Given the description of an element on the screen output the (x, y) to click on. 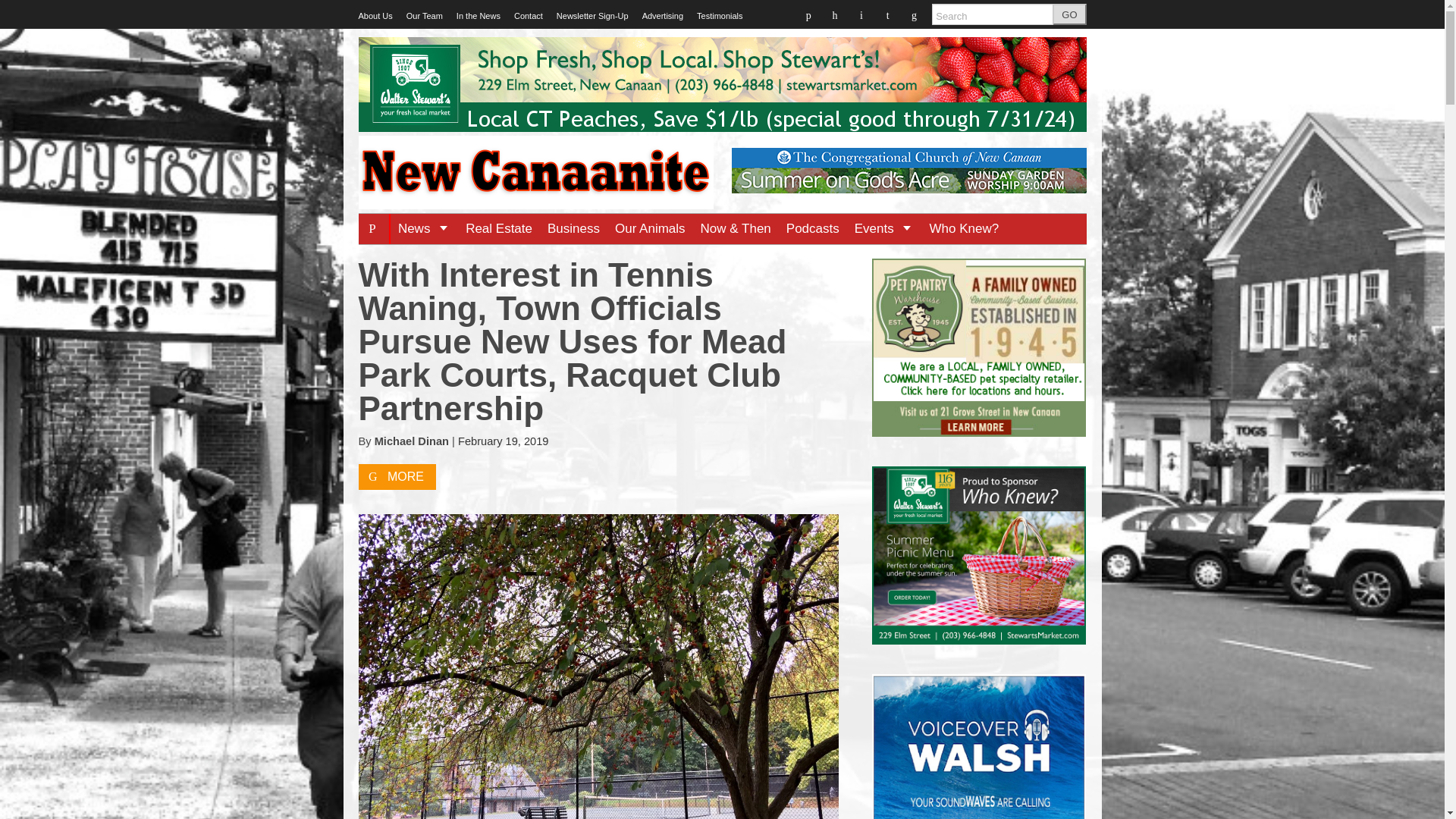
In the News (478, 15)
About Us (374, 15)
Testimonials (719, 15)
Advertising (662, 15)
GO (1069, 14)
Contact (528, 15)
Our Team (424, 15)
Newsletter Sign-Up (592, 15)
